Given the description of an element on the screen output the (x, y) to click on. 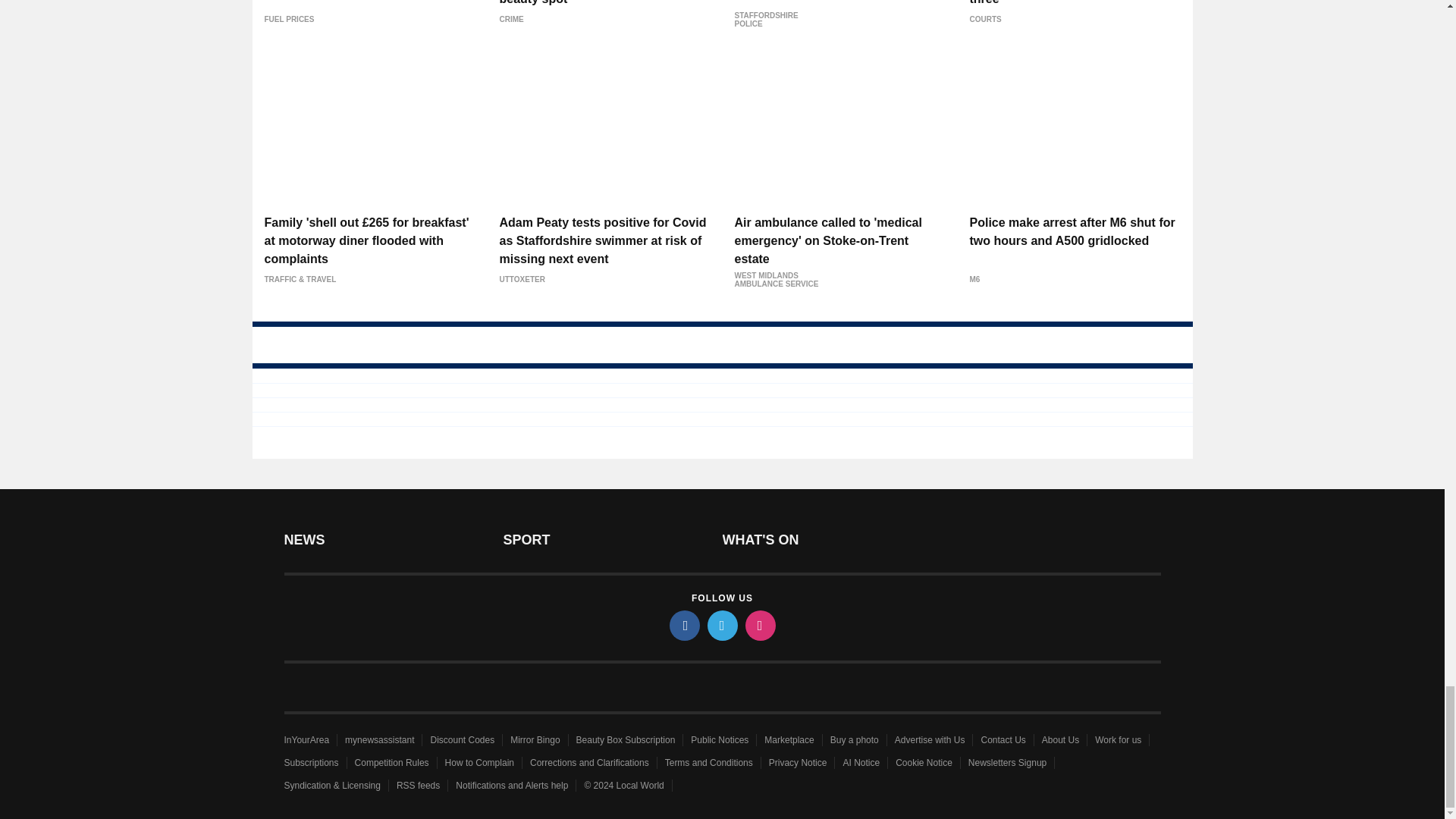
instagram (759, 625)
facebook (683, 625)
twitter (721, 625)
